Given the description of an element on the screen output the (x, y) to click on. 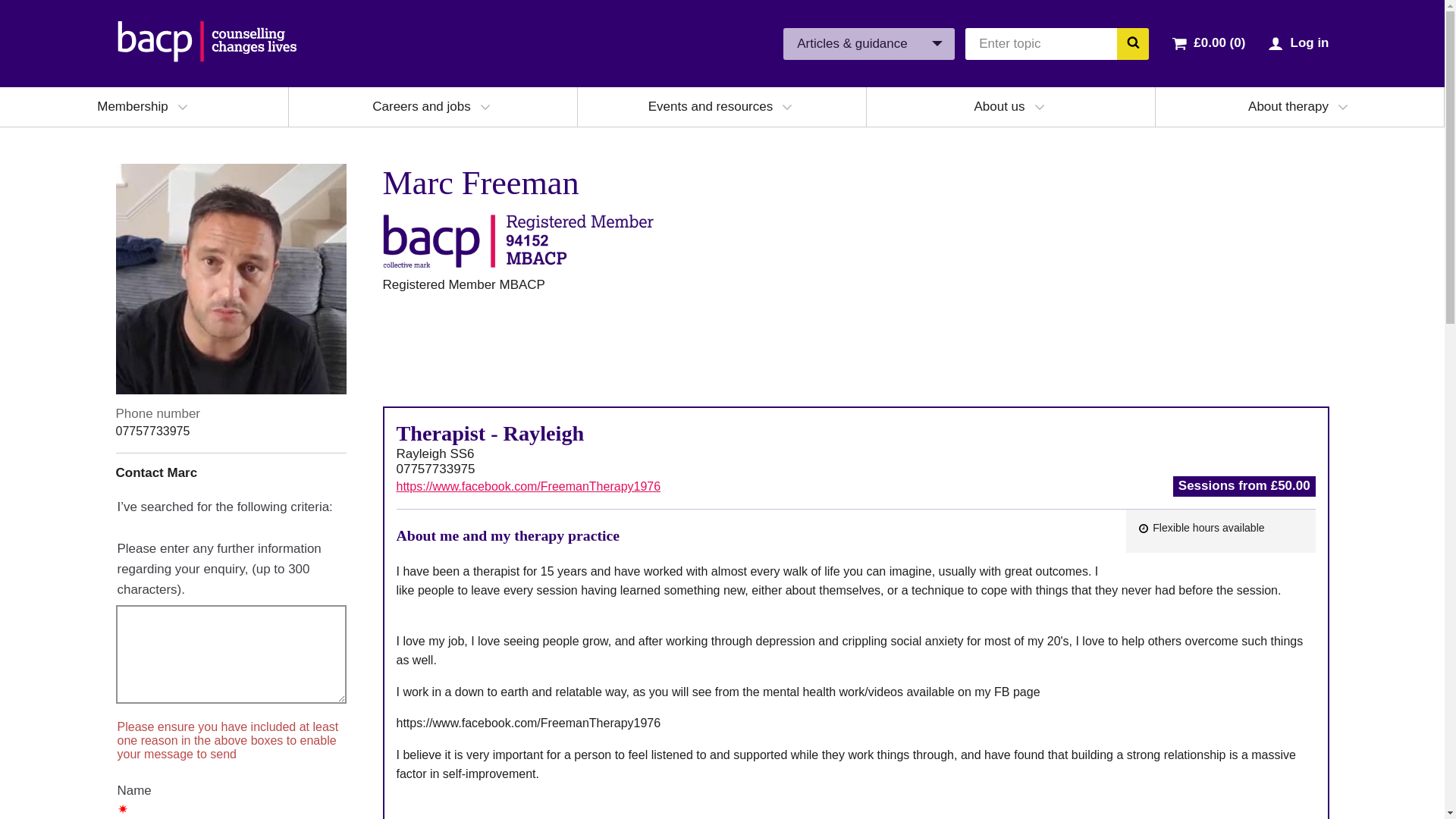
Events and resources (710, 106)
Careers and jobs (421, 106)
Search the BACP website (1132, 42)
Membership (132, 106)
Log in (1309, 42)
